Given the description of an element on the screen output the (x, y) to click on. 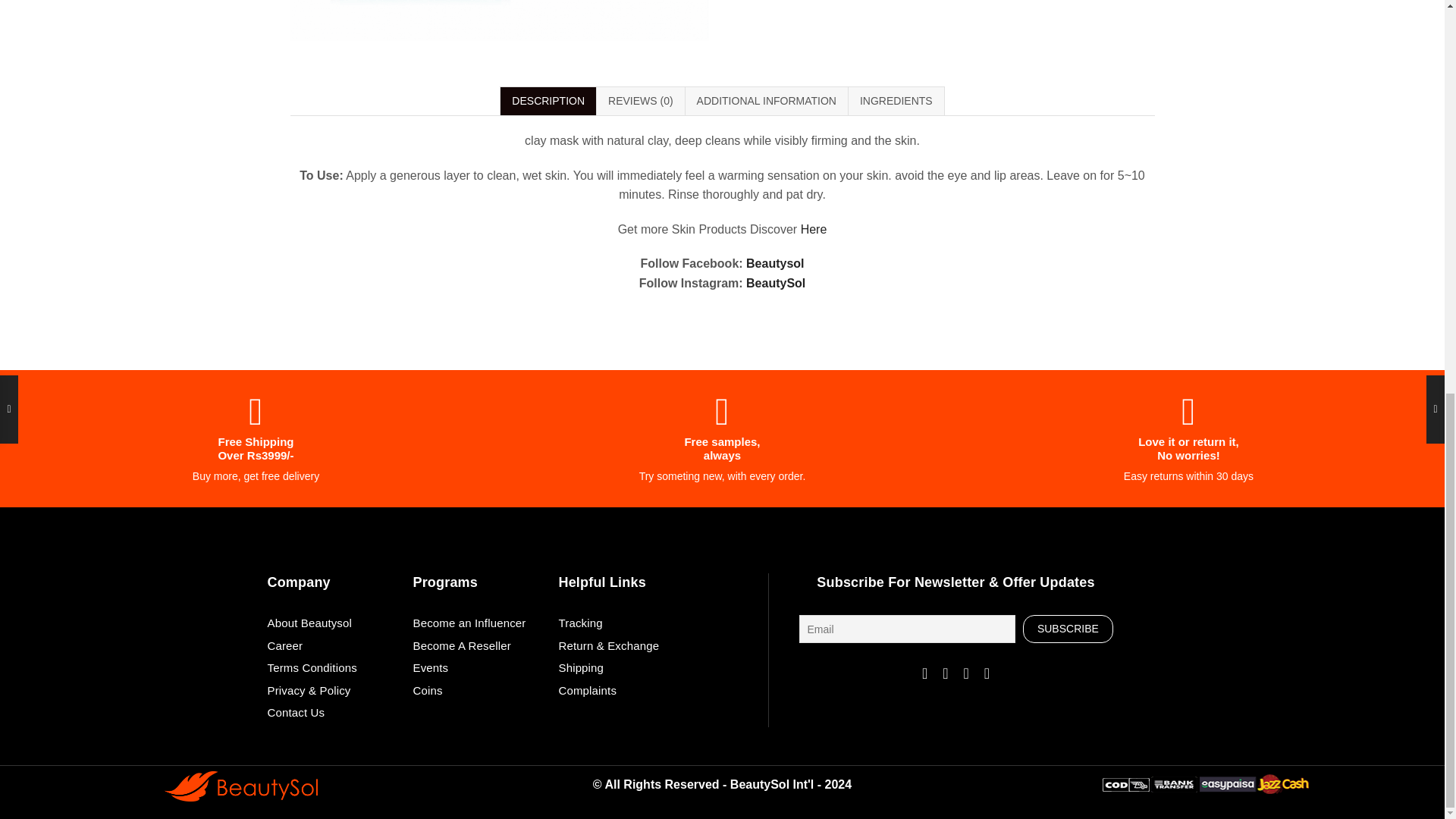
Subscribe (1067, 628)
About Beautysol (331, 626)
Career (331, 649)
Suuth Clay Mask (498, 20)
